Given the description of an element on the screen output the (x, y) to click on. 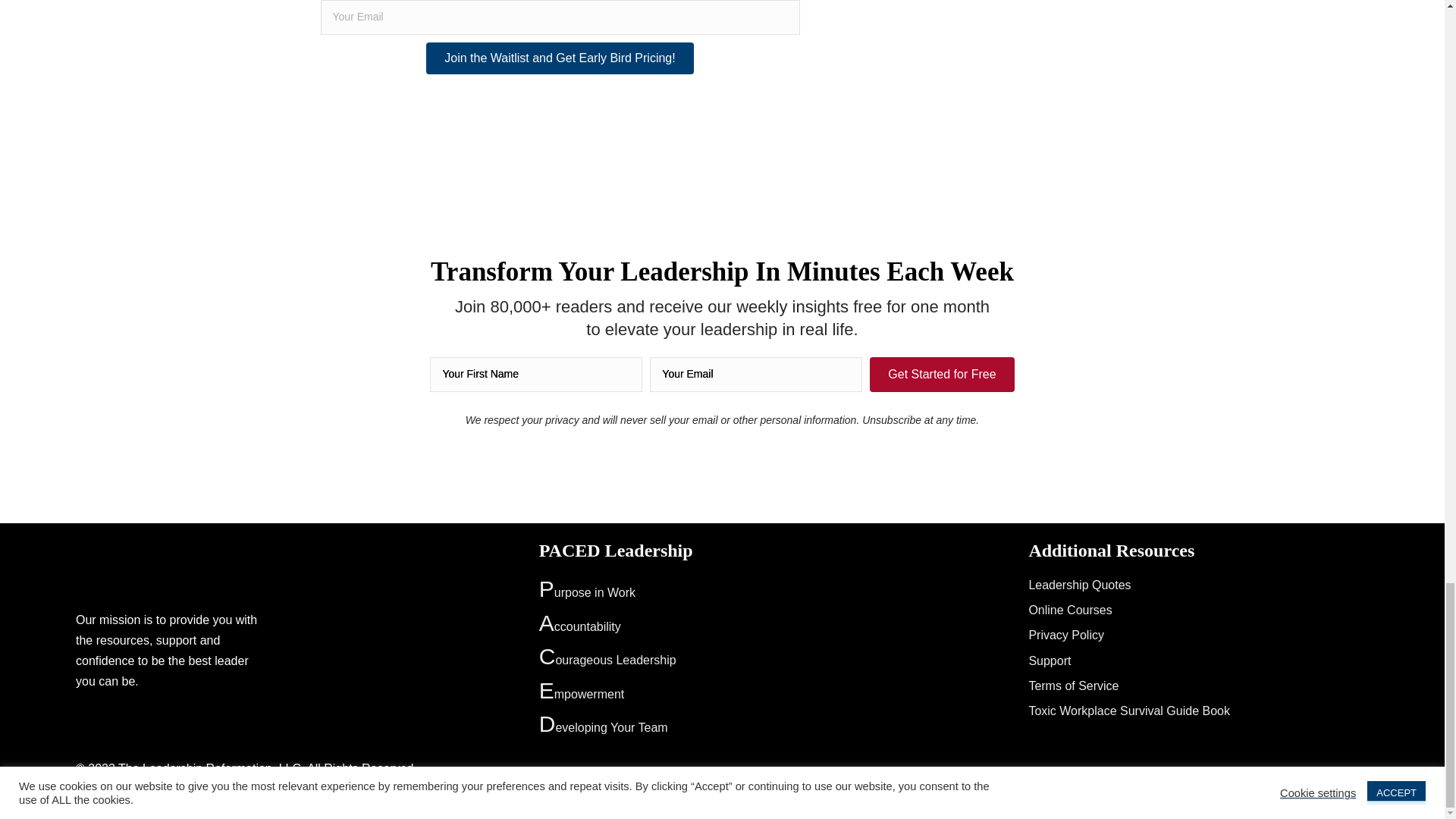
Support (1048, 659)
Accountability (579, 626)
Courageous Leadership (607, 659)
Join the Waitlist and Get Early Bird Pricing! (559, 58)
Terms of Service (1072, 685)
Get Started for Free (941, 374)
Privacy Policy (1065, 634)
VBI Education eLearning Websites (1274, 772)
Leadership Quotes (1079, 584)
Developing Your Team (603, 727)
